Given the description of an element on the screen output the (x, y) to click on. 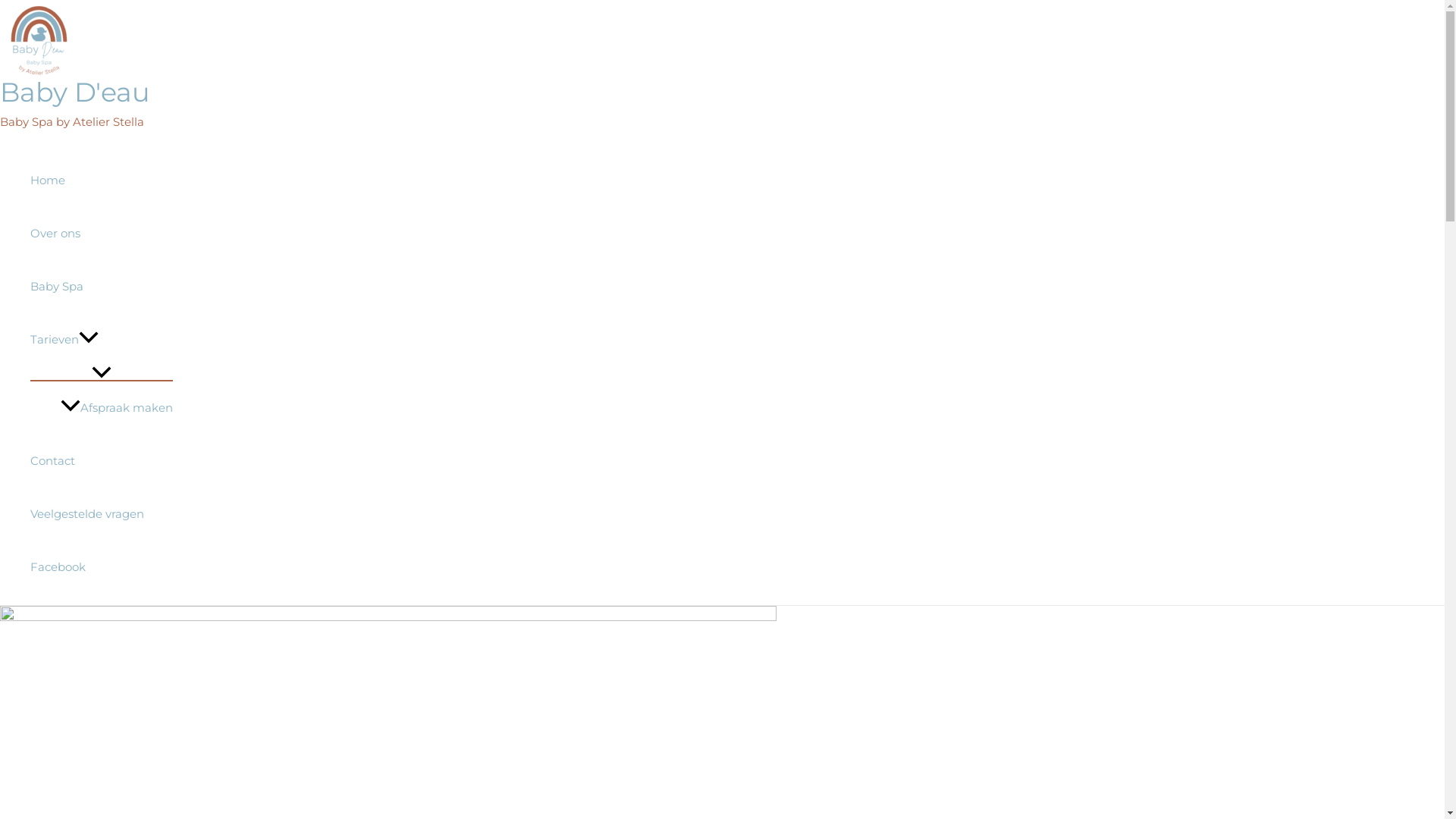
Menu schakelen Element type: text (101, 372)
Tarieven Element type: text (101, 339)
Baby Spa Element type: text (101, 286)
Facebook Element type: text (101, 566)
Home Element type: text (101, 180)
Contact Element type: text (101, 460)
Over ons Element type: text (101, 233)
Veelgestelde vragen Element type: text (101, 513)
Baby D'eau Element type: text (75, 91)
Afspraak maken Element type: text (116, 407)
